Given the description of an element on the screen output the (x, y) to click on. 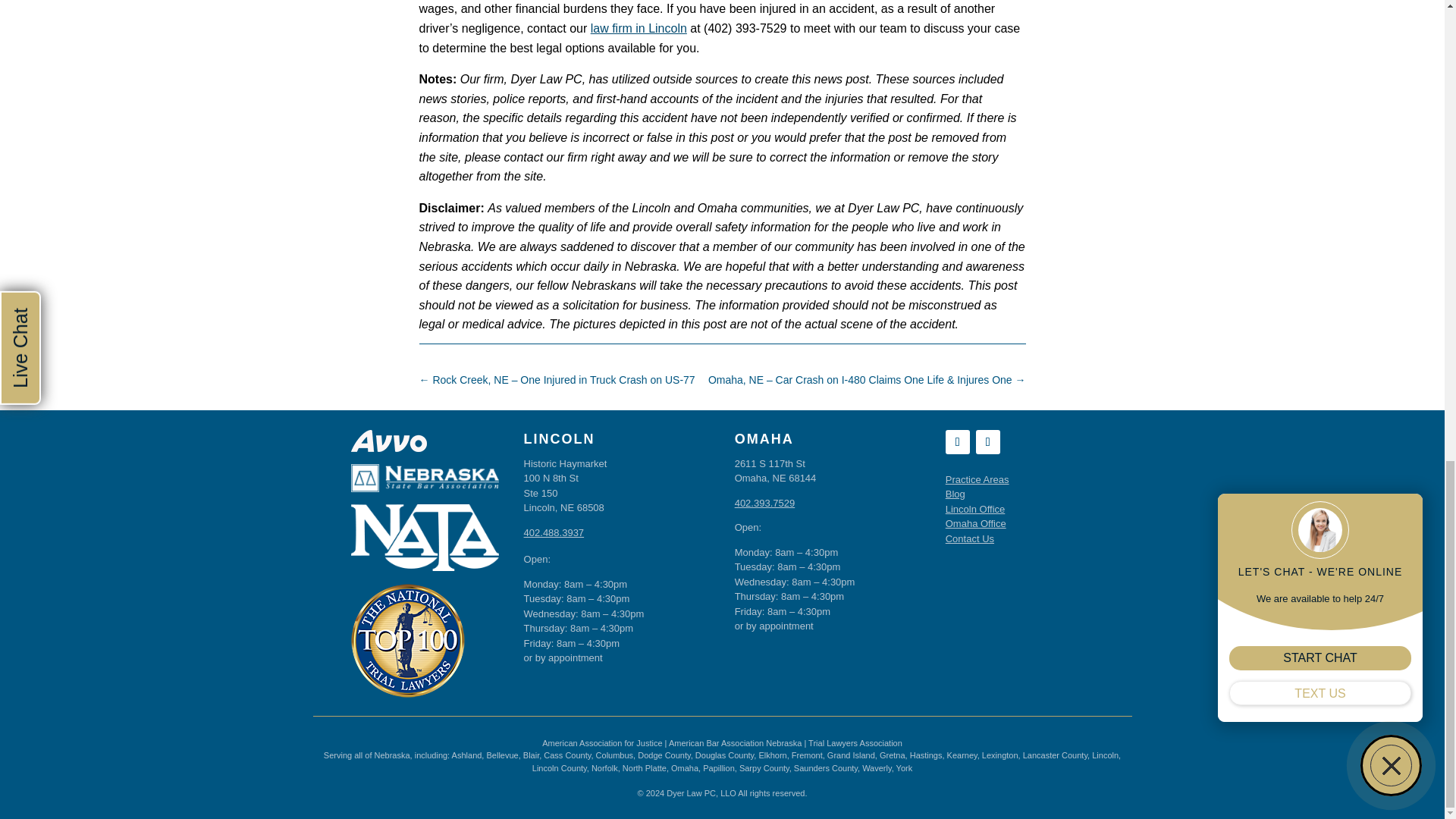
Follow on Youtube (956, 441)
Nebraska State Bar Association logo reversed (424, 478)
Follow on Facebook (987, 441)
NATA logo reversed (424, 537)
Nation Trial Lawyers Top 100 badge (407, 640)
Avvo-logo-white-100 (388, 440)
